Given the description of an element on the screen output the (x, y) to click on. 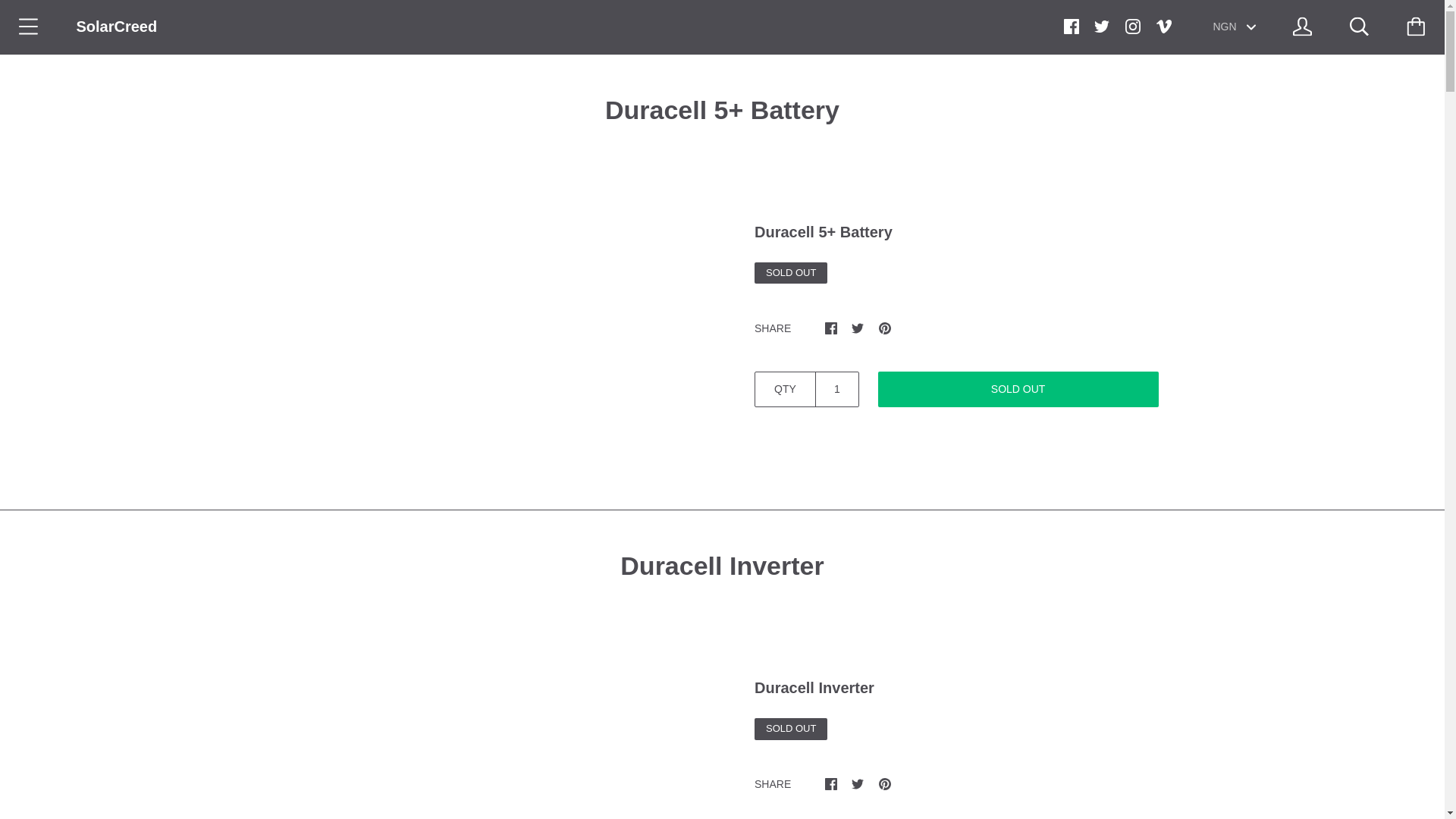
Facebook (1071, 26)
Vimeo (1163, 26)
1 (837, 389)
Twitter (1101, 26)
Instagram (1132, 26)
